Given the description of an element on the screen output the (x, y) to click on. 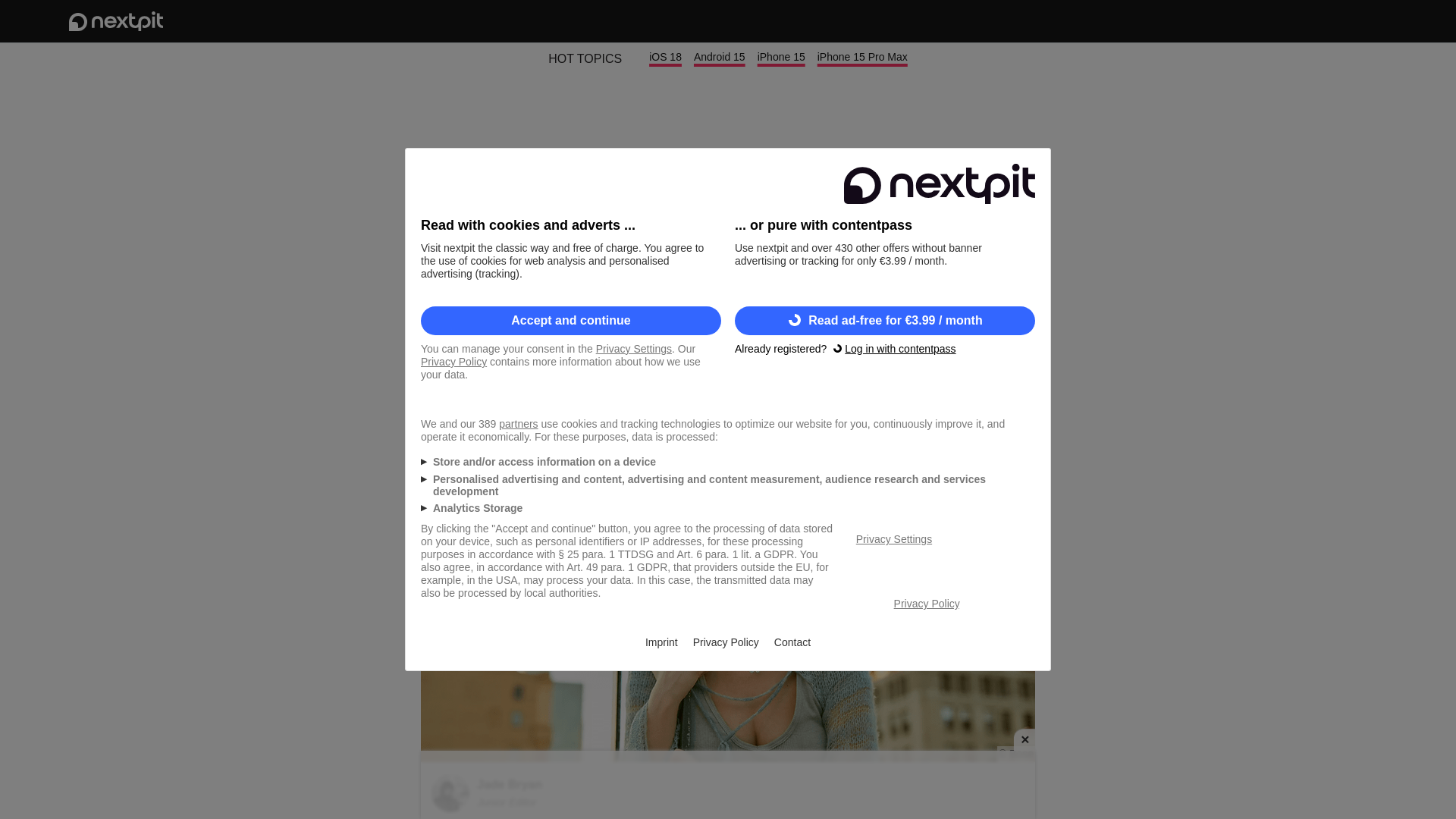
Feb 18, 2024, 7:00:00 PM (981, 397)
To the nextpit homepage (115, 21)
2 min read (452, 396)
Login (1325, 21)
